Given the description of an element on the screen output the (x, y) to click on. 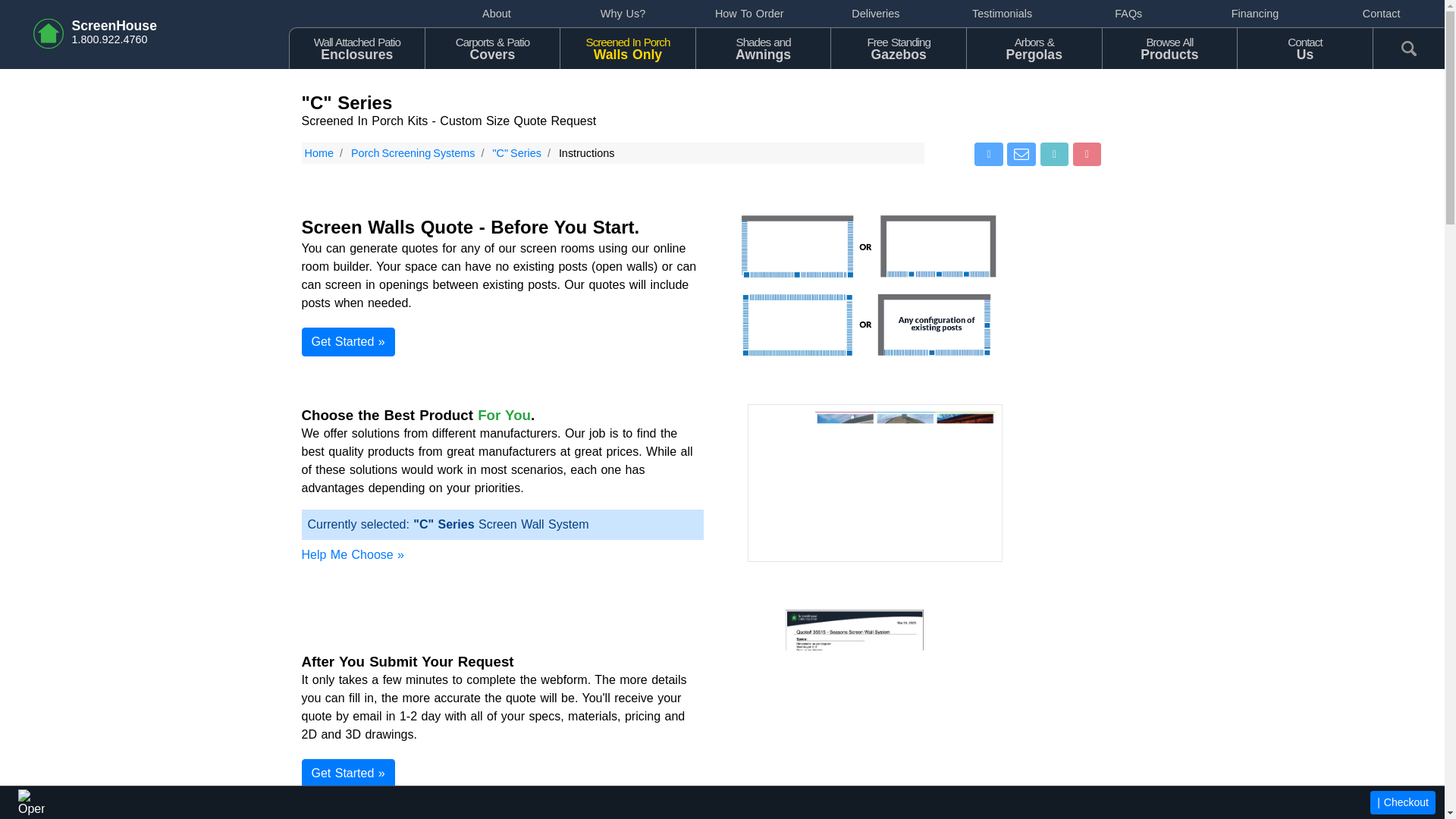
Why Us? (1169, 47)
"C" Series (622, 13)
How To Order (516, 152)
Porch Screening Systems (748, 13)
Home (627, 47)
Financing (413, 152)
About (318, 152)
Testimonials (1255, 13)
